Given the description of an element on the screen output the (x, y) to click on. 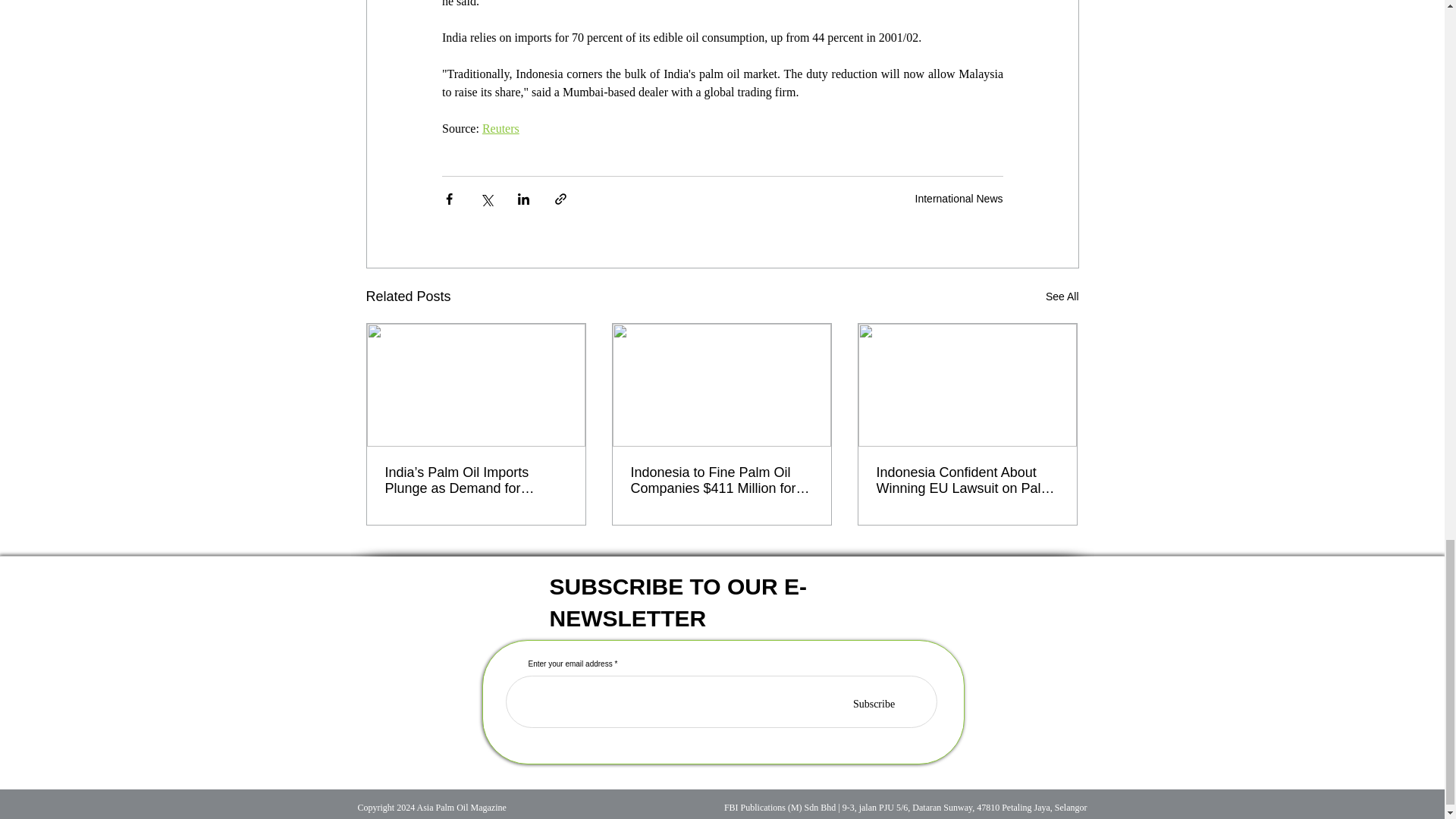
Reuters (499, 128)
International News (959, 198)
See All (1061, 296)
